Given the description of an element on the screen output the (x, y) to click on. 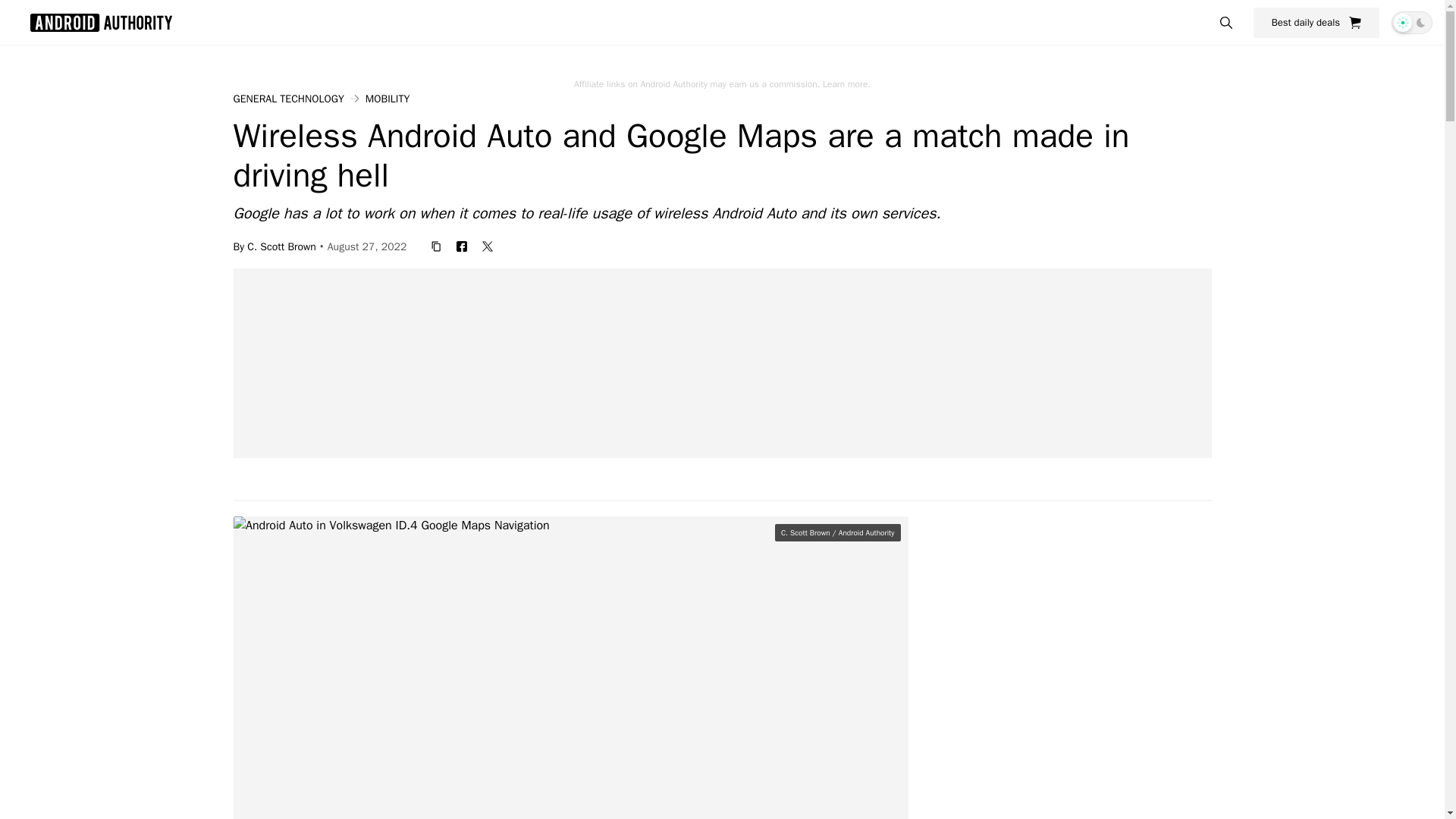
Best daily deals (1315, 22)
twitter (487, 246)
C. Scott Brown (281, 245)
facebook (461, 246)
MOBILITY (387, 98)
GENERAL TECHNOLOGY (287, 98)
Learn more. (846, 83)
